Given the description of an element on the screen output the (x, y) to click on. 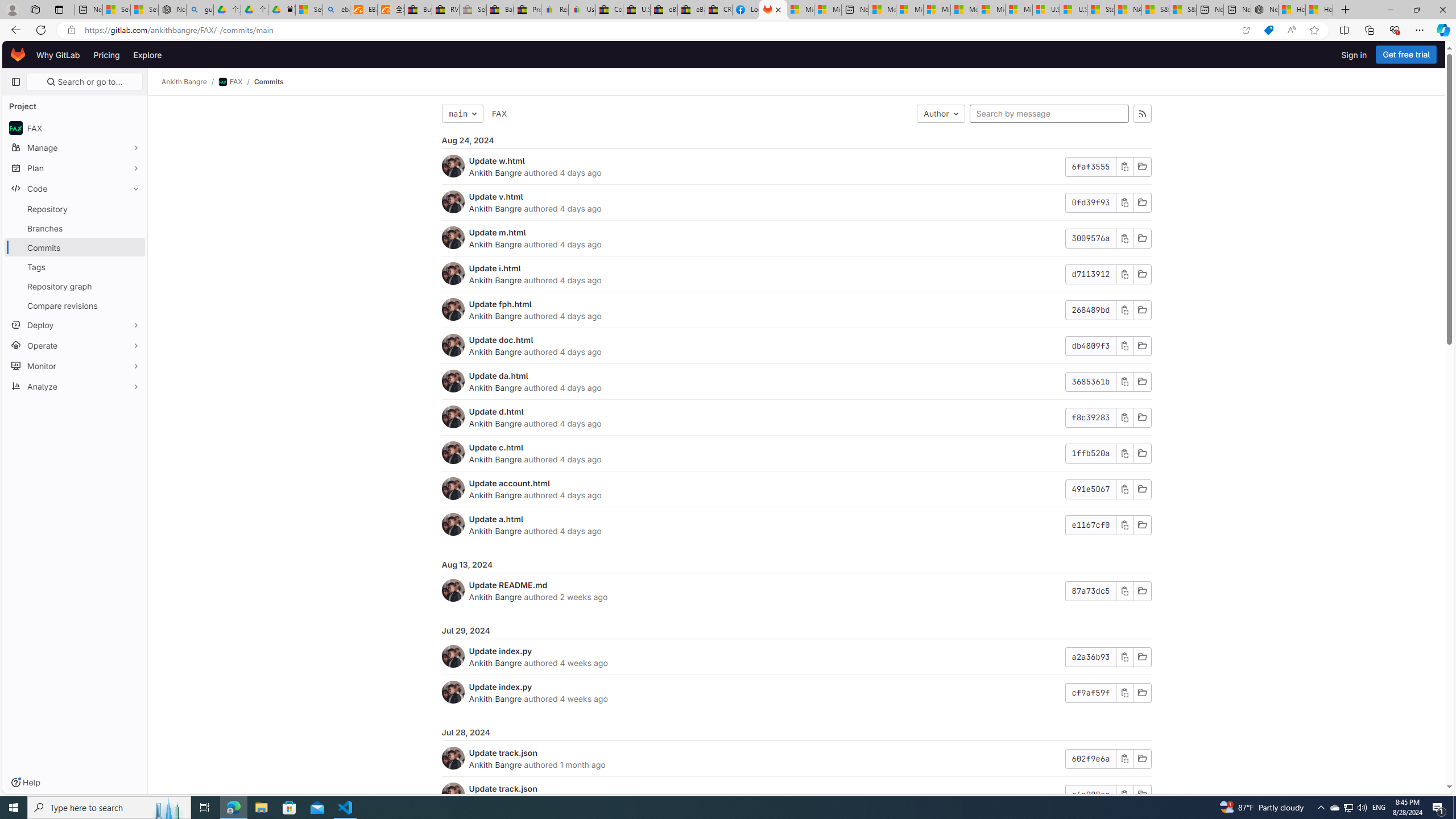
Baby Keepsakes & Announcements for sale | eBay (499, 9)
Analyze (74, 385)
Update account.htmlAnkith Bangre authored 4 days ago491e5067 (796, 488)
Tags (74, 266)
Update da.html (498, 375)
Sign in (1353, 54)
Log into Facebook (746, 9)
Get free trial (1406, 54)
Microsoft account | Privacy (909, 9)
Pricing (106, 54)
